Given the description of an element on the screen output the (x, y) to click on. 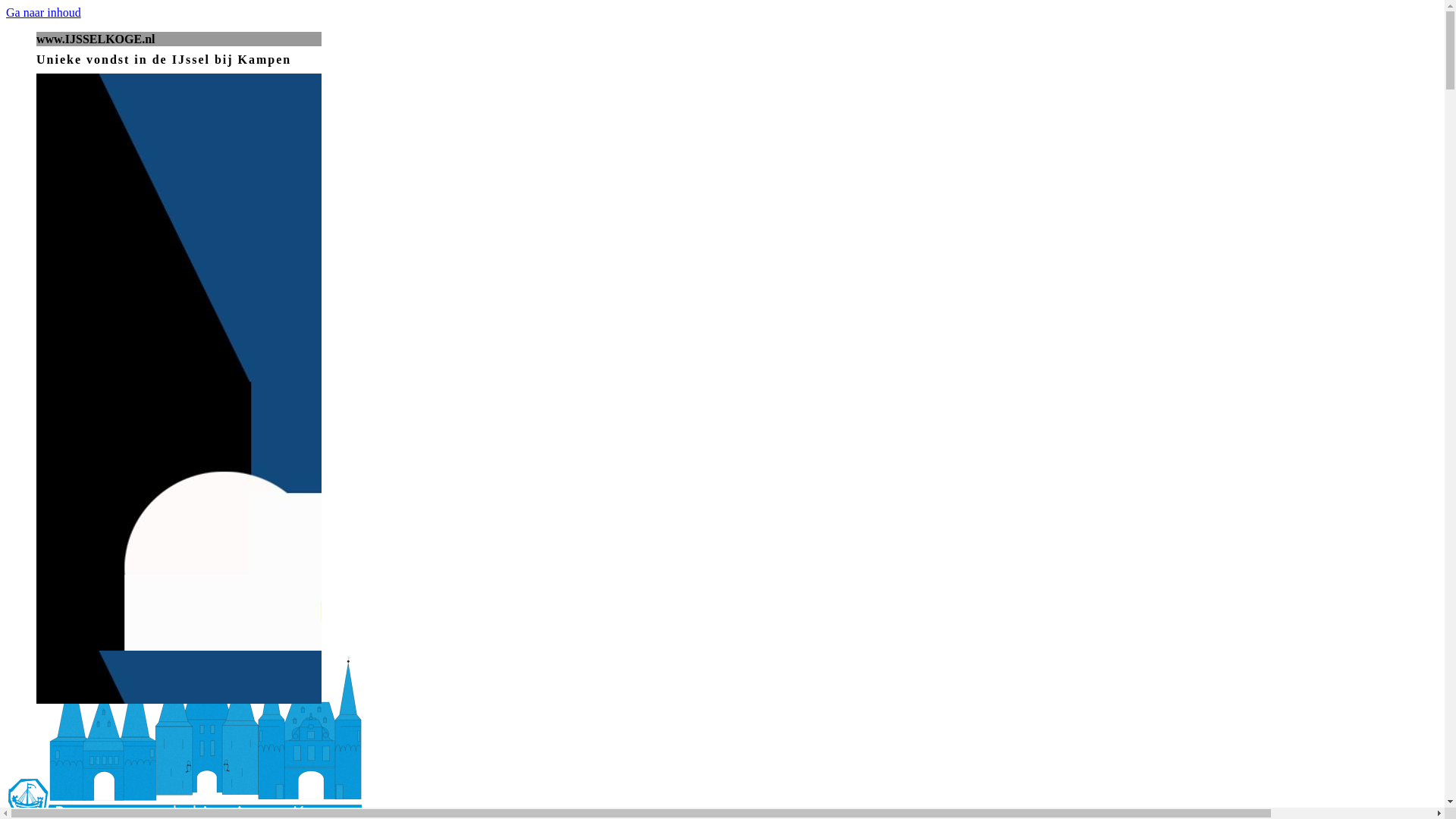
Ga naar inhoud Element type: text (43, 12)
